Given the description of an element on the screen output the (x, y) to click on. 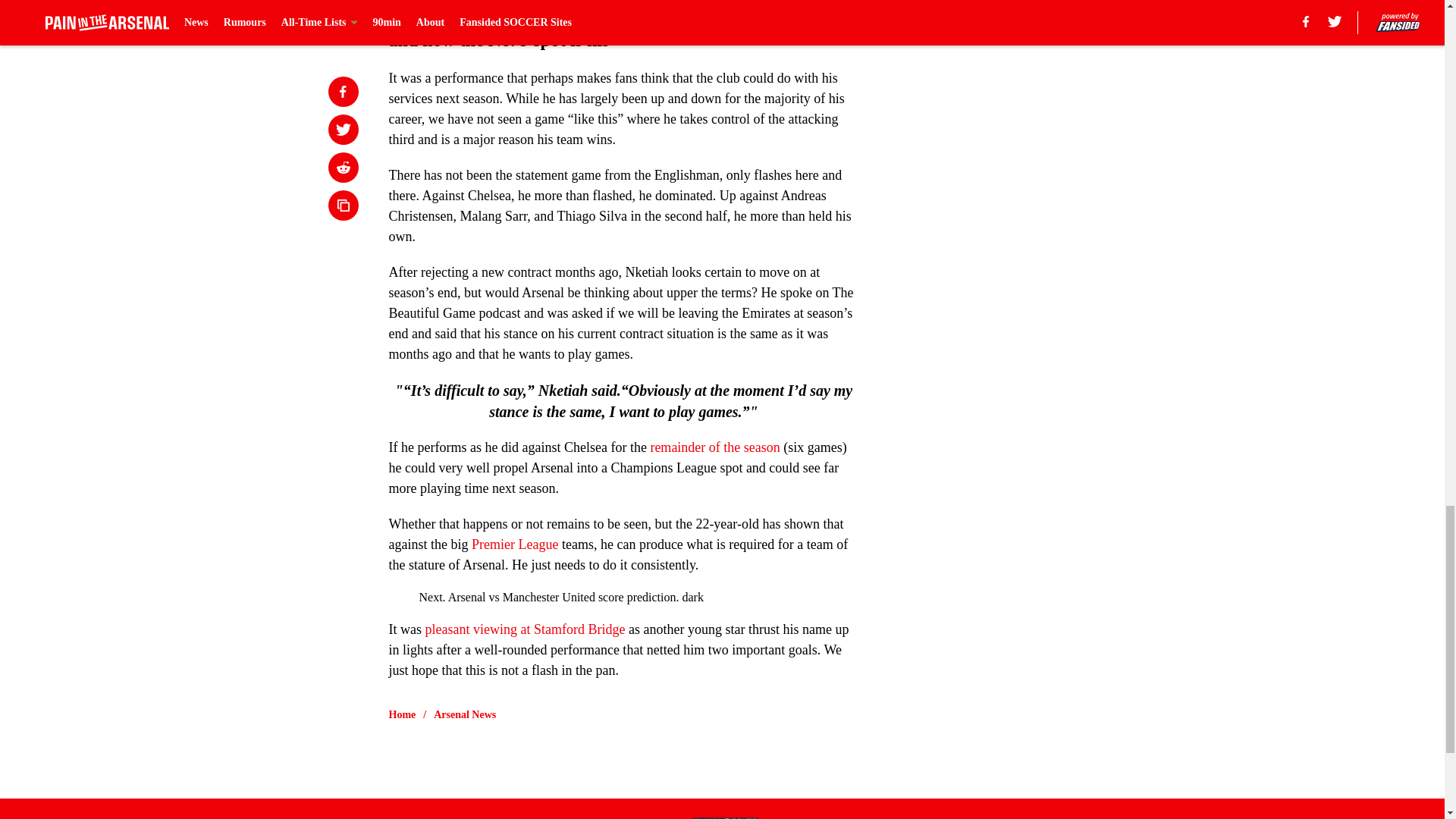
Premier League (514, 544)
Arsenal News (464, 714)
Home (401, 714)
remainder of the season (713, 447)
pleasant viewing at Stamford Bridge (524, 629)
